Given the description of an element on the screen output the (x, y) to click on. 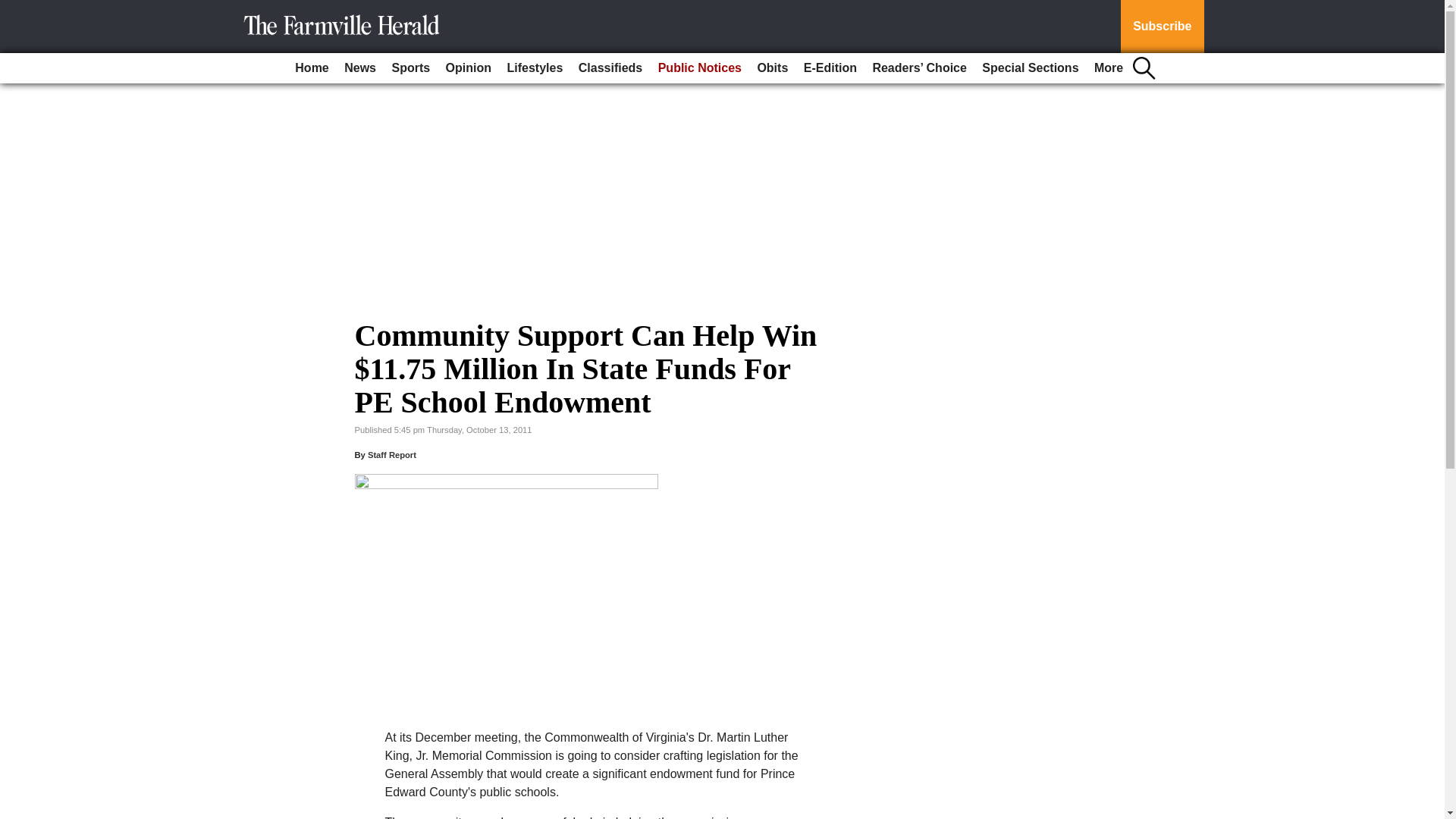
Home (311, 68)
Go (13, 9)
Lifestyles (534, 68)
Public Notices (700, 68)
E-Edition (830, 68)
Opinion (468, 68)
Staff Report (392, 454)
Subscribe (1162, 26)
Obits (772, 68)
Classifieds (609, 68)
